Given the description of an element on the screen output the (x, y) to click on. 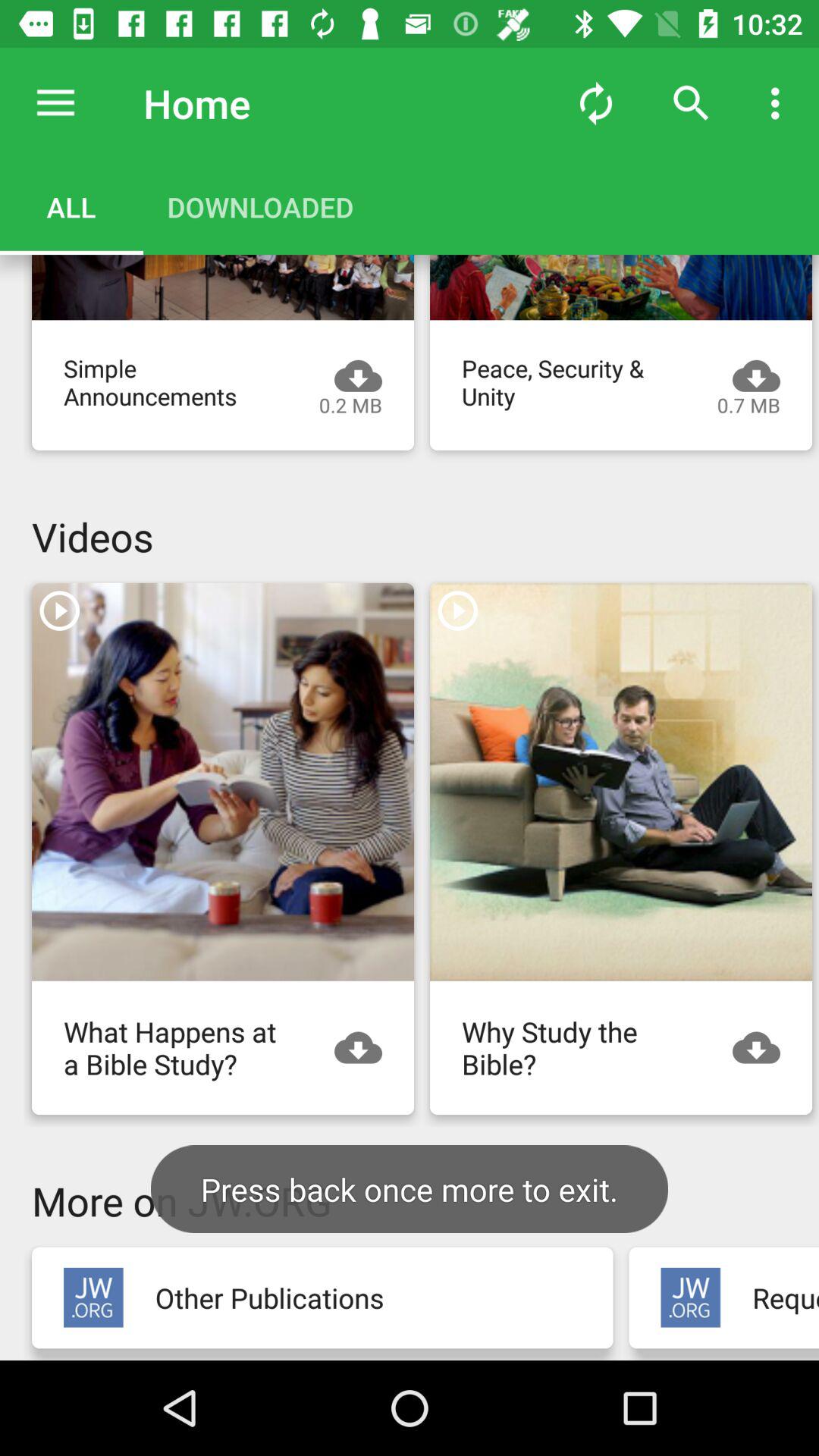
download video (764, 1047)
